Given the description of an element on the screen output the (x, y) to click on. 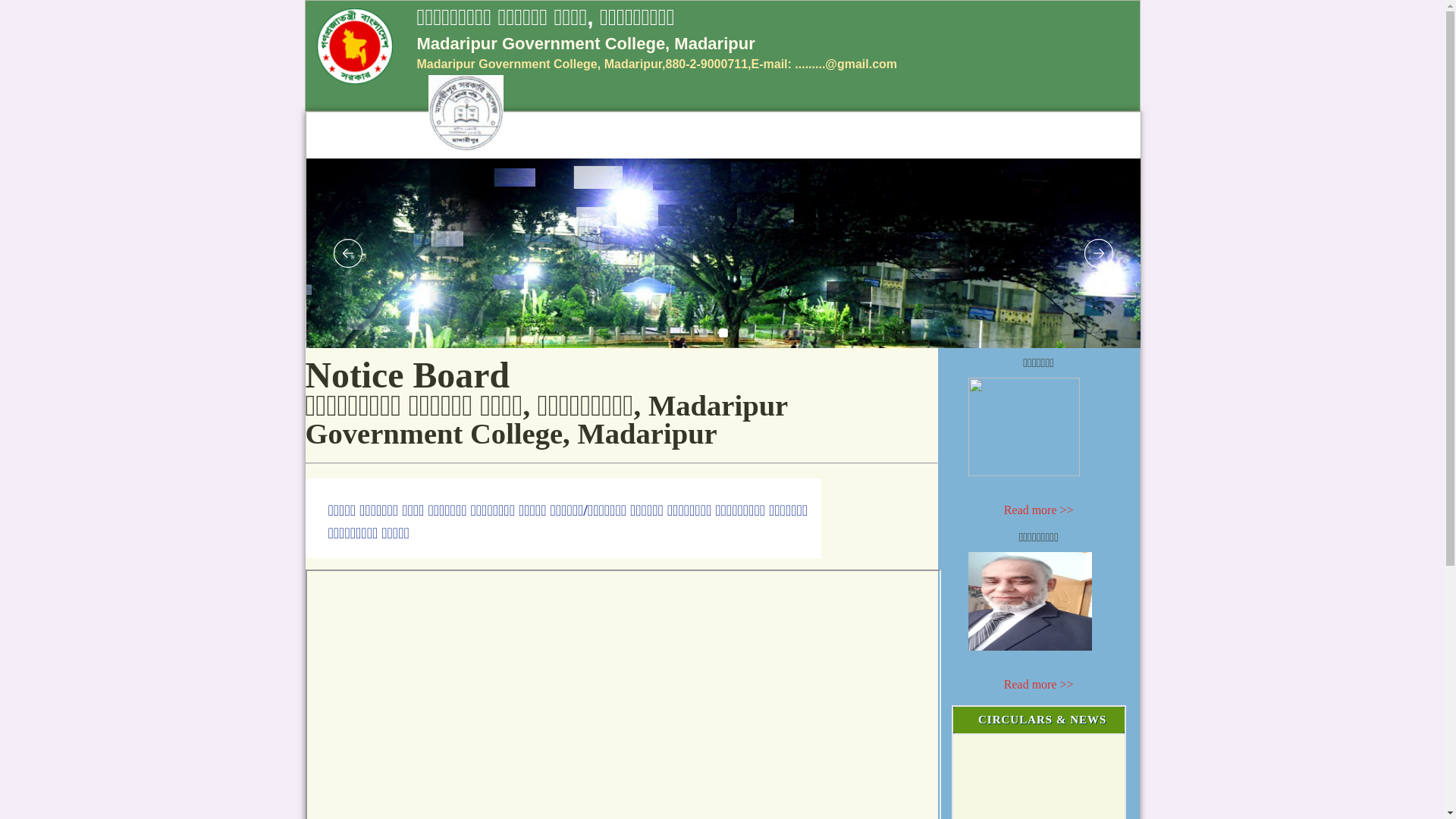
Read more >> Element type: text (1038, 509)
Teachers Information Element type: text (390, 335)
Read more >> Element type: text (1038, 683)
Home Element type: text (320, 335)
Contact Us Element type: text (673, 335)
History of MGC Element type: text (485, 335)
Message from Principal Element type: text (586, 335)
